Given the description of an element on the screen output the (x, y) to click on. 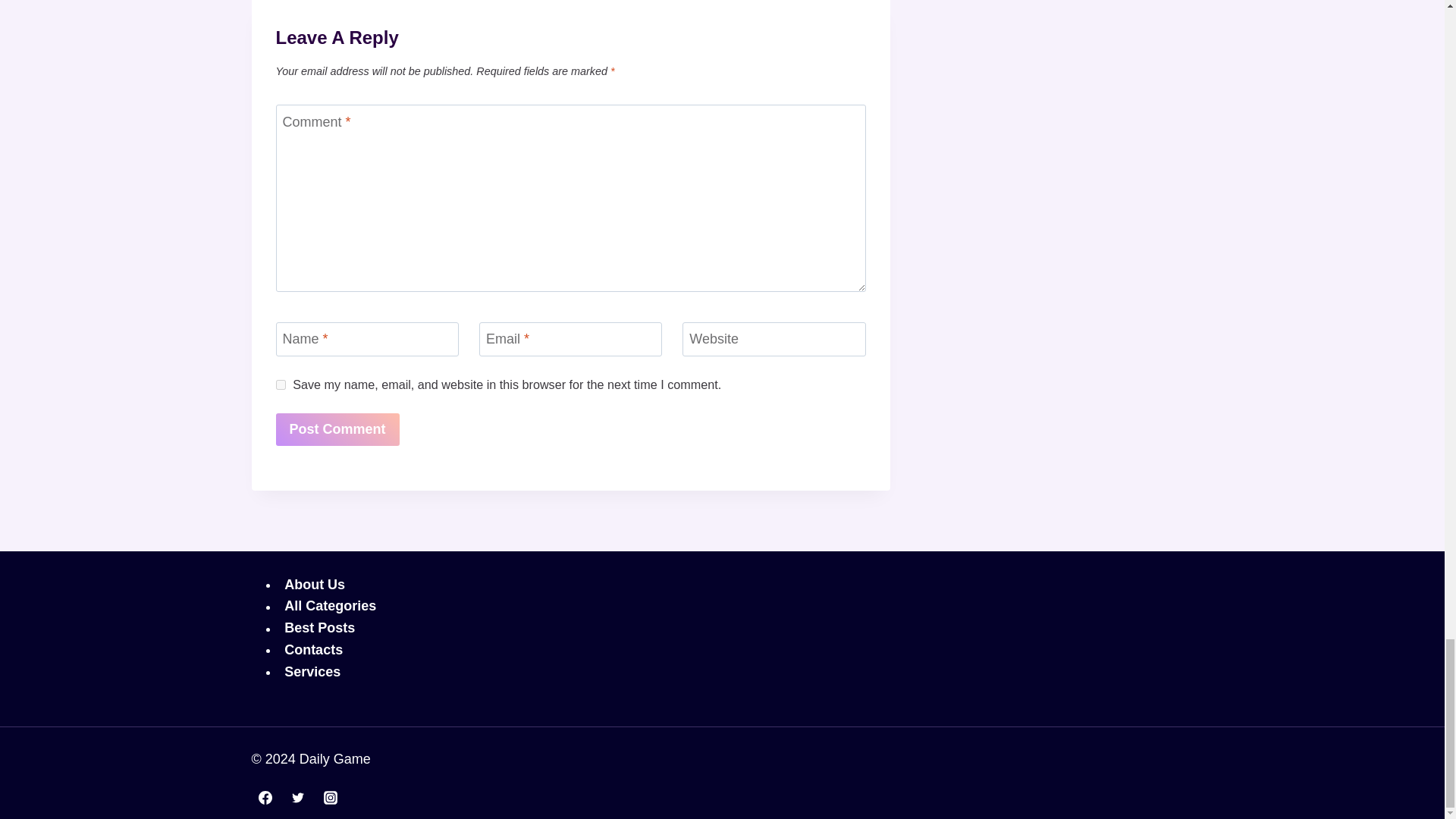
Post Comment (337, 429)
yes (280, 384)
